Given the description of an element on the screen output the (x, y) to click on. 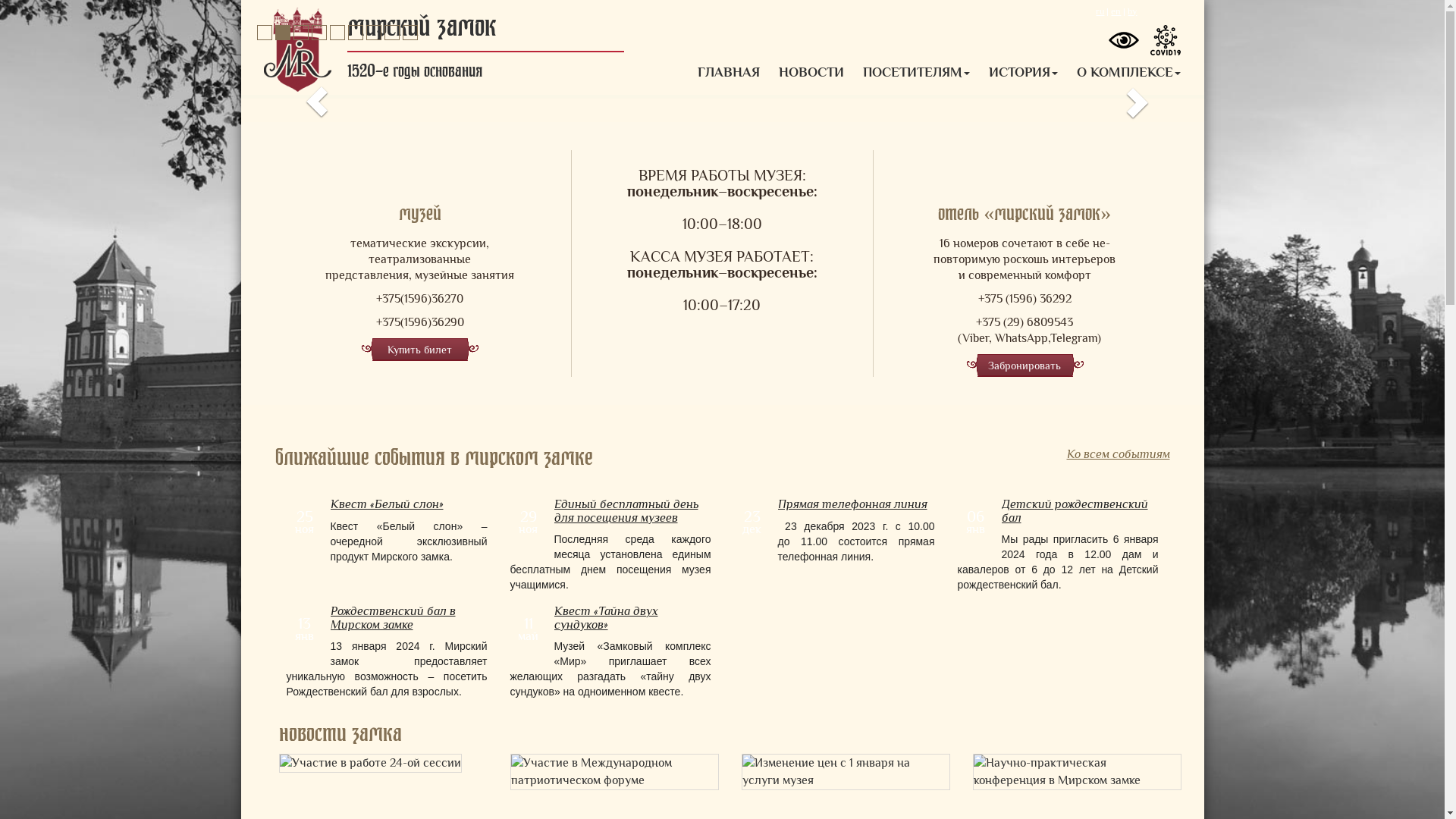
ru Element type: text (1099, 11)
by Element type: text (1131, 11)
en Element type: text (1115, 11)
